Given the description of an element on the screen output the (x, y) to click on. 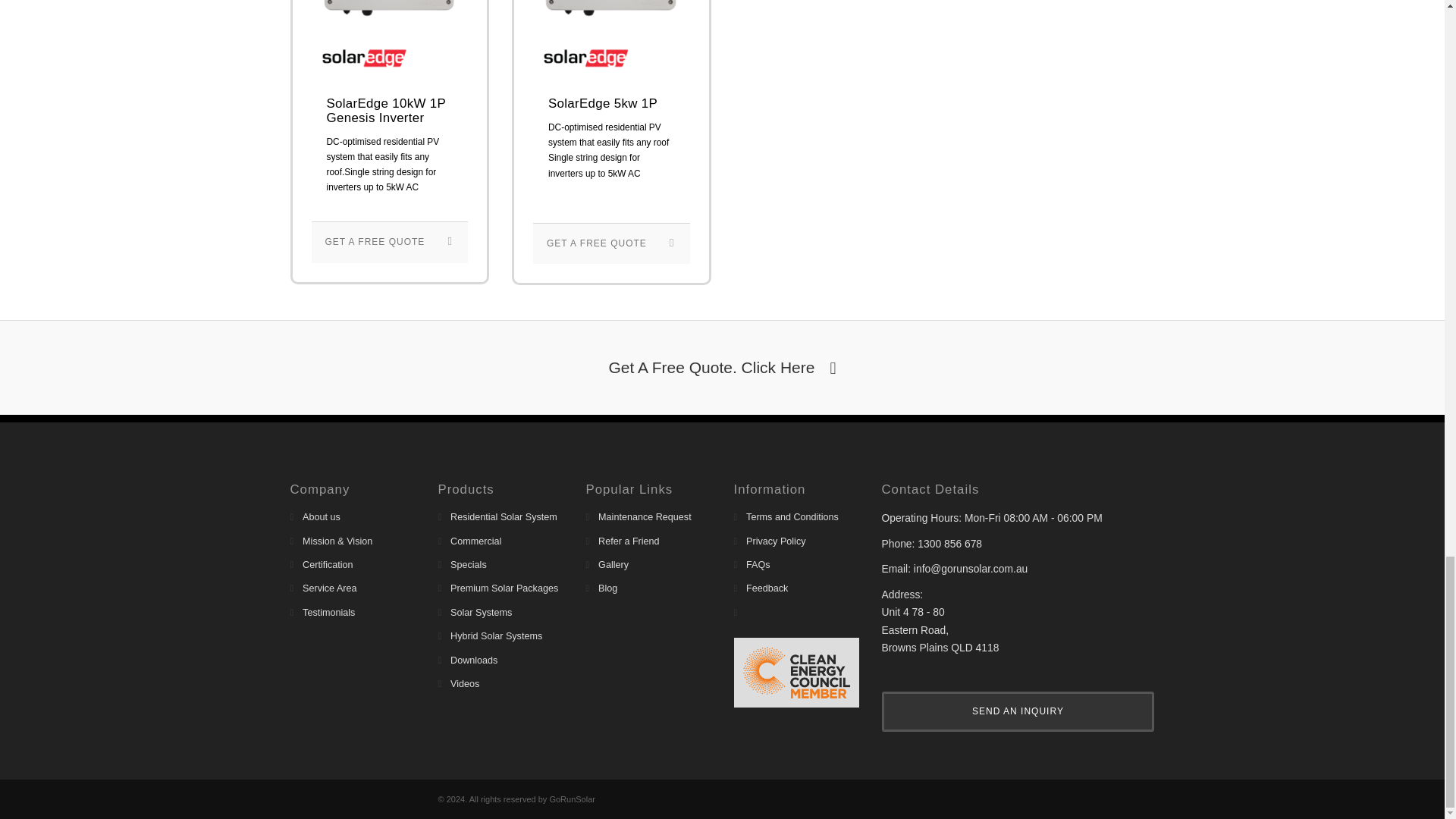
SolarEdge 10kW 1P Genesis Inverter (389, 111)
GET A FREE QUOTE (611, 242)
GET A FREE QUOTE (389, 241)
SolarEdge 5kw 1P (611, 104)
